Given the description of an element on the screen output the (x, y) to click on. 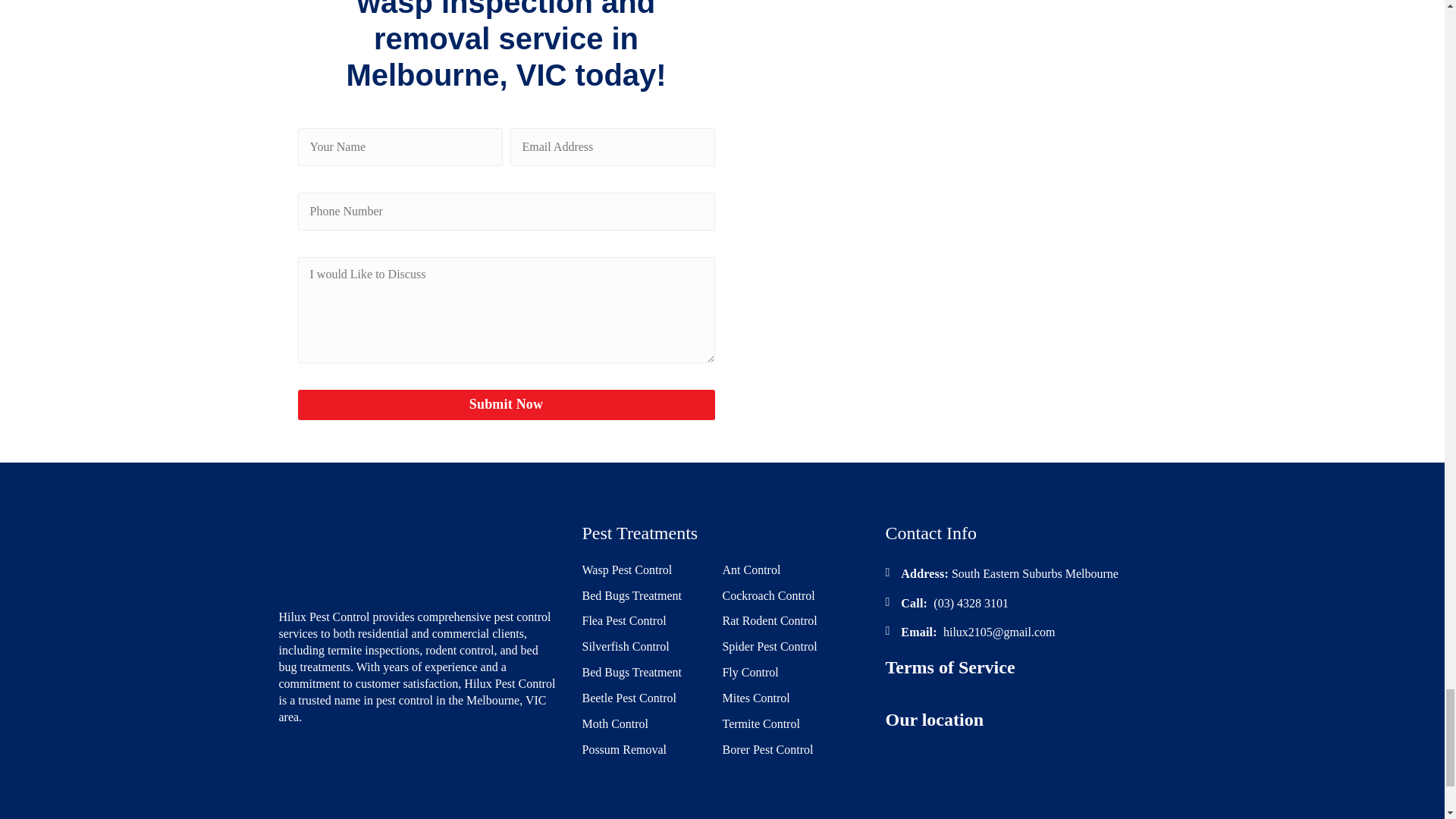
footerMap (1025, 778)
Wasp Pest Control (625, 570)
Bed Bugs Treatment (630, 596)
Submit Now (505, 404)
Submit Now (505, 404)
Cockroach Control (767, 596)
Ant Control (751, 570)
